Given the description of an element on the screen output the (x, y) to click on. 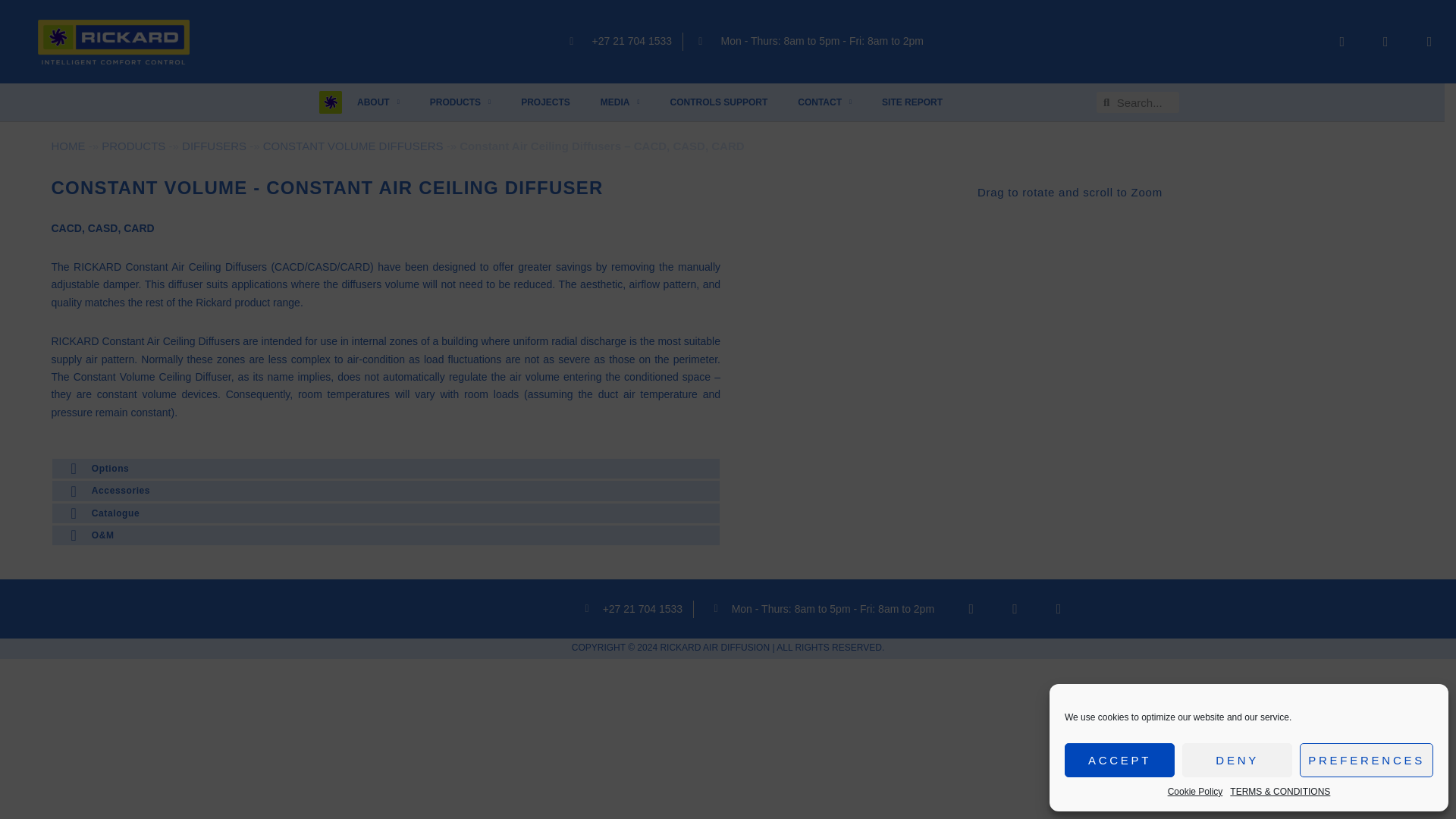
ABOUT (378, 102)
Rickard Air Logo (113, 41)
PRODUCTS (459, 102)
